Given the description of an element on the screen output the (x, y) to click on. 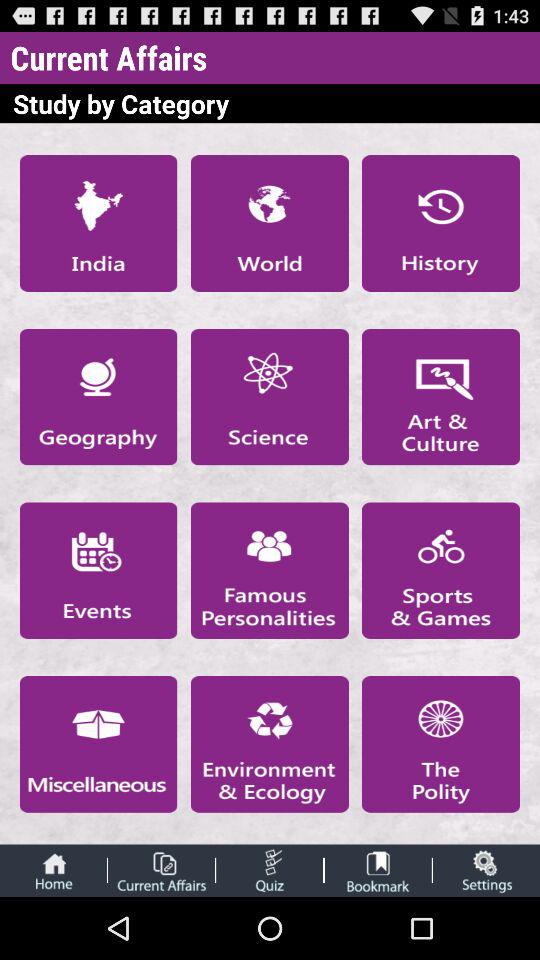
history category (441, 223)
